Given the description of an element on the screen output the (x, y) to click on. 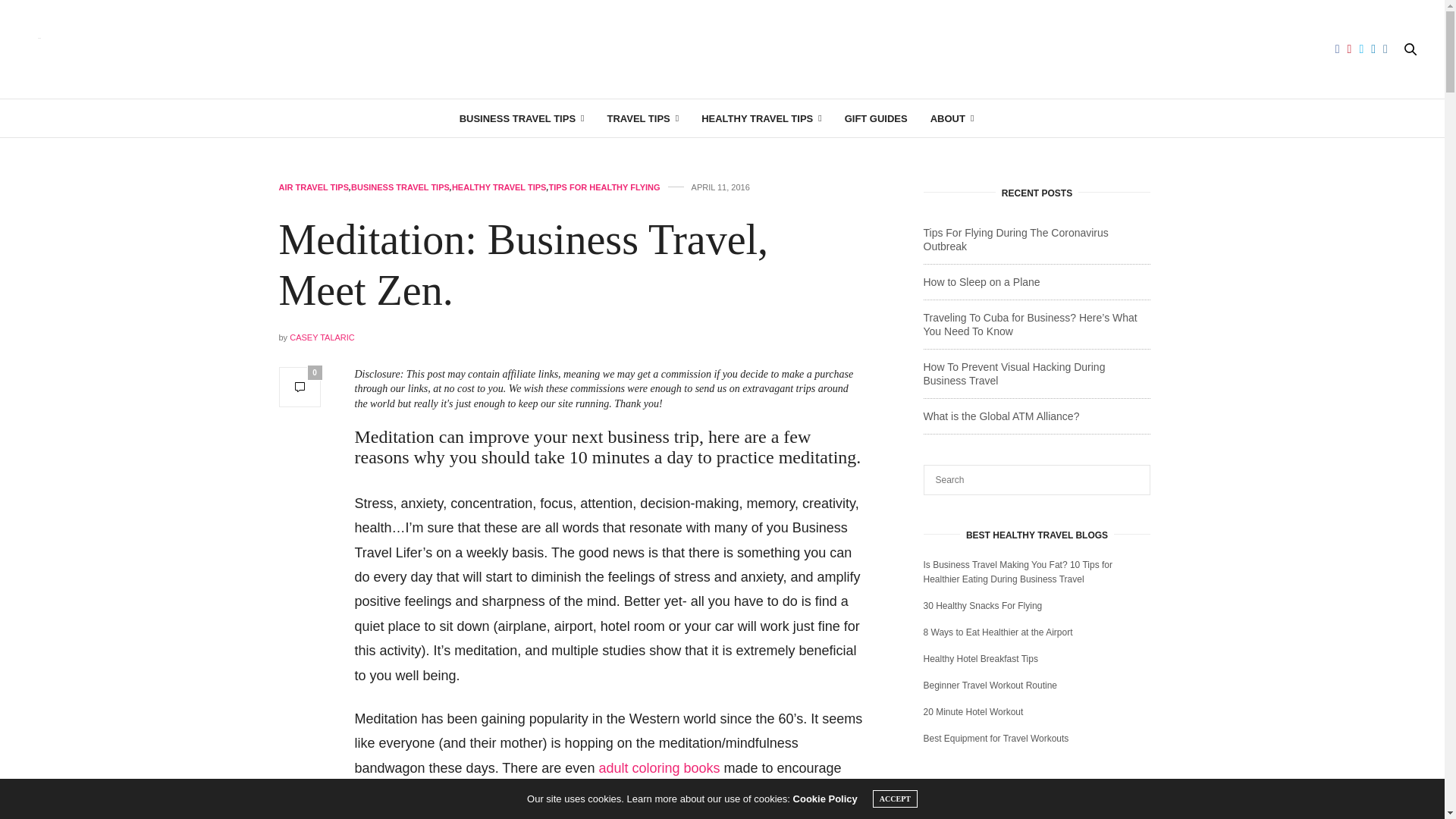
Posts by Casey Talaric (322, 337)
Business Travel Life (721, 49)
Gift Guides (875, 118)
Meditation: Business Travel, Meet Zen. (523, 264)
